Given the description of an element on the screen output the (x, y) to click on. 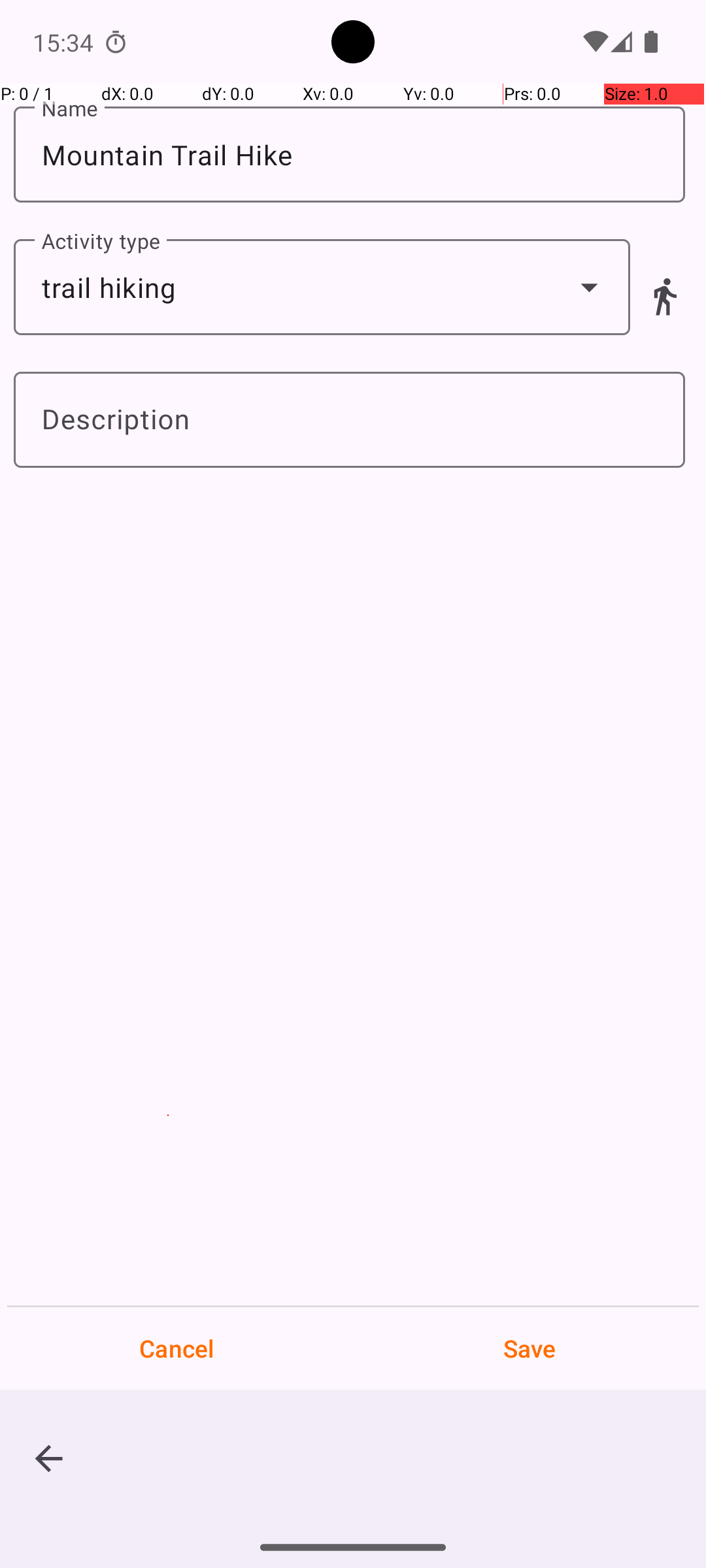
Mountain Trail Hike Element type: android.widget.EditText (349, 154)
trail hiking Element type: android.widget.AutoCompleteTextView (321, 287)
